Given the description of an element on the screen output the (x, y) to click on. 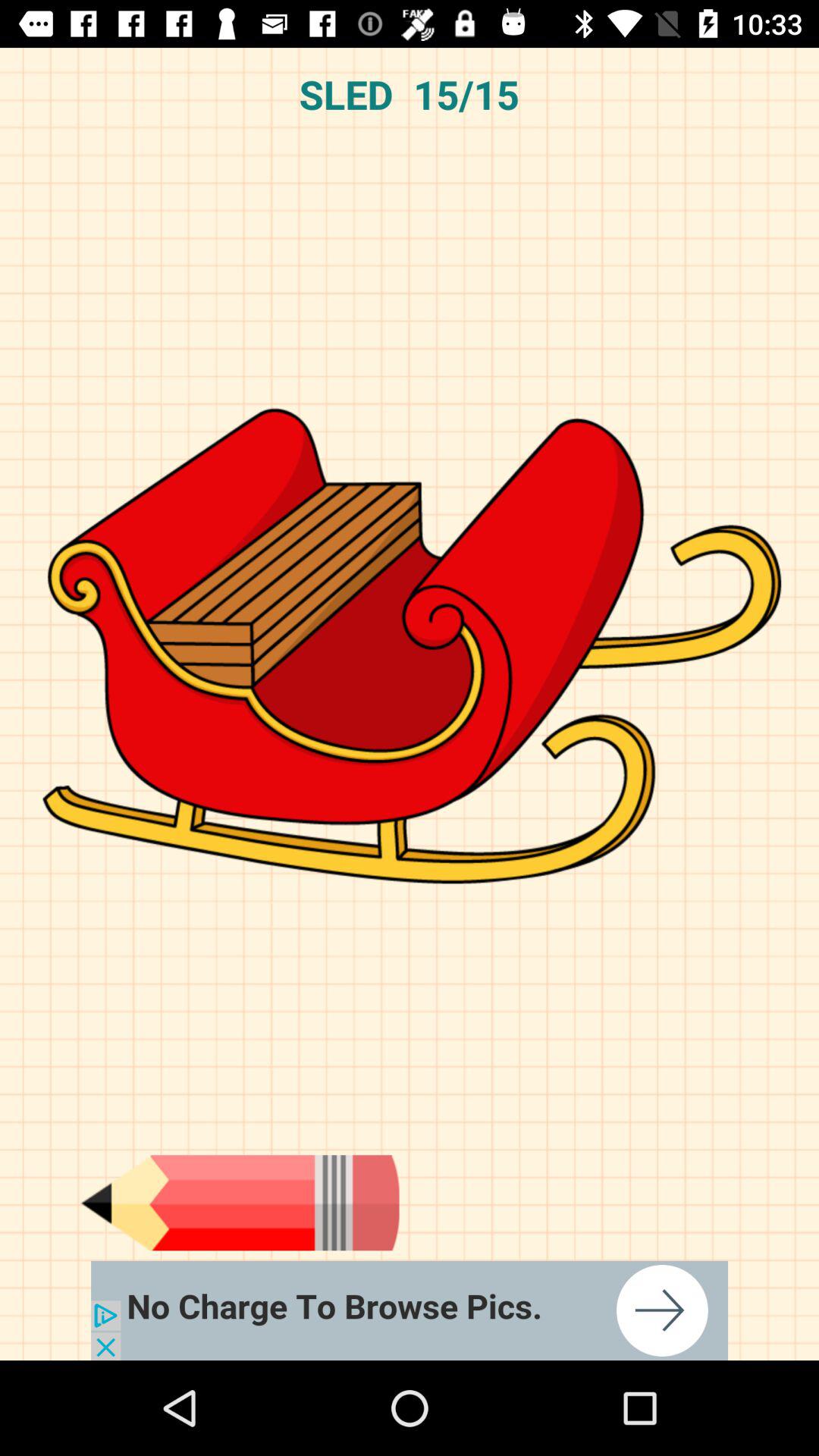
draw (239, 1202)
